Given the description of an element on the screen output the (x, y) to click on. 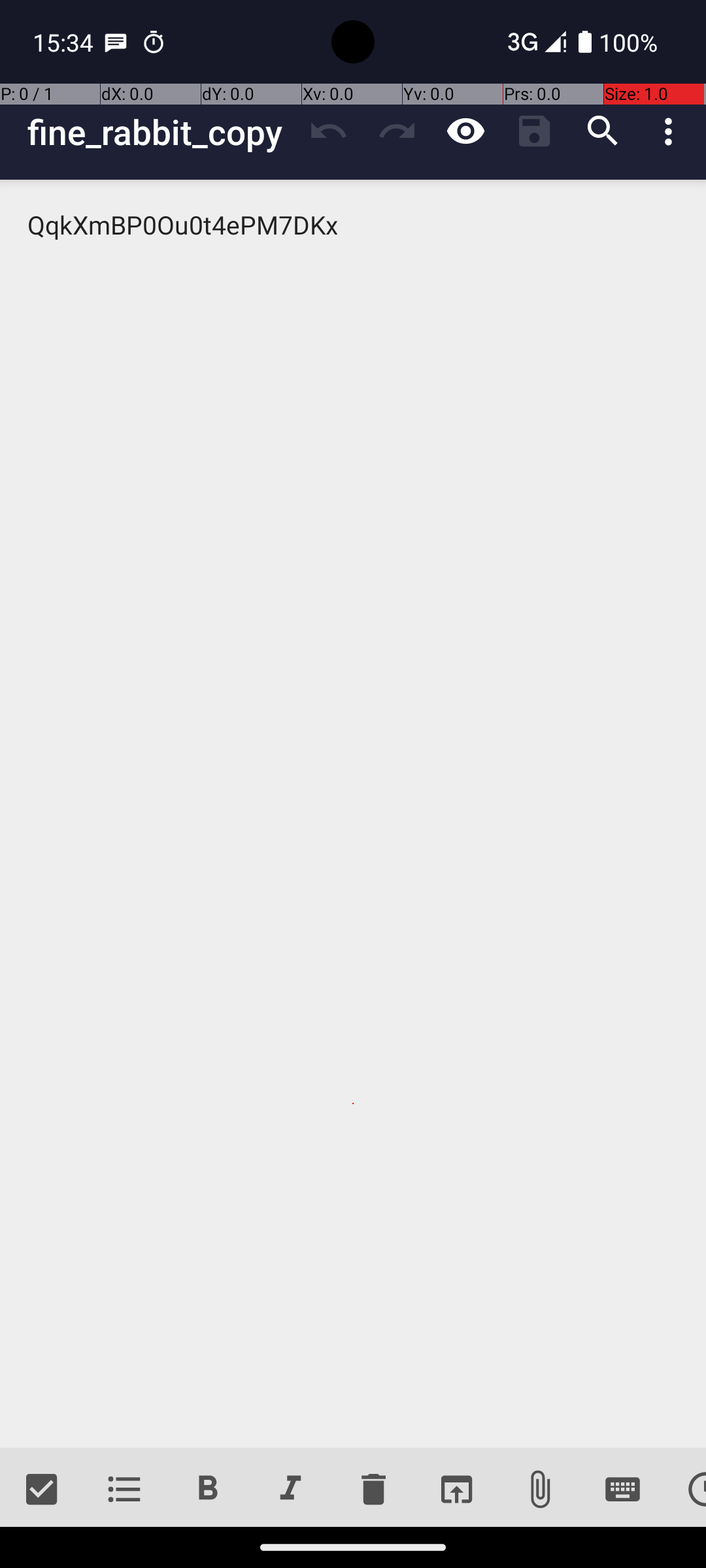
fine_rabbit_copy Element type: android.widget.TextView (160, 131)
QqkXmBP0Ou0t4ePM7DKx
 Element type: android.widget.EditText (353, 813)
